Given the description of an element on the screen output the (x, y) to click on. 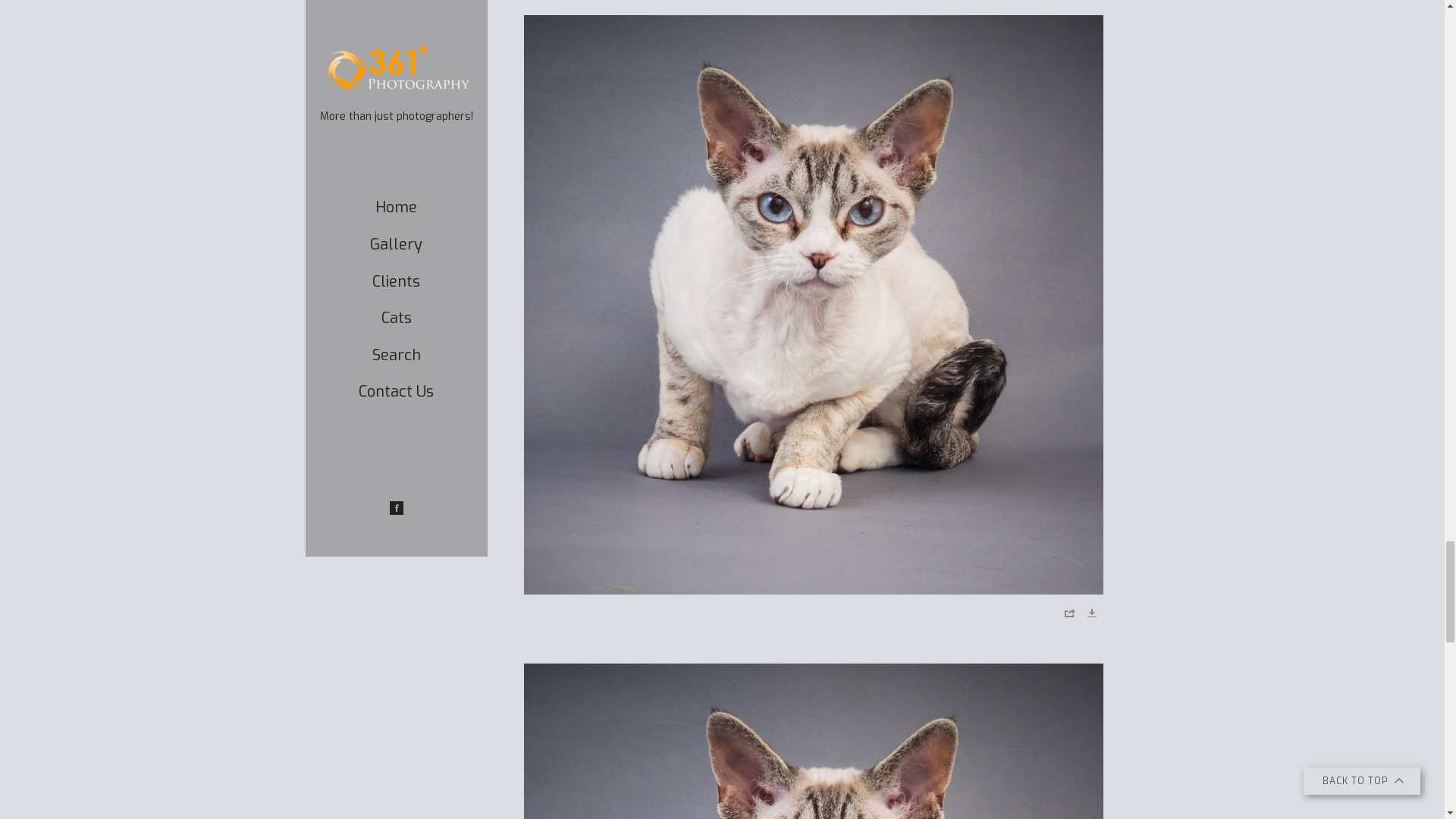
Download All Element type: hover (1084, 134)
Slideshow Element type: hover (1047, 134)
FiFe Dunblane Show August 2014 Element type: text (660, 50)
Share Gallery Element type: hover (1009, 134)
Share Element type: hover (1068, 614)
Download Element type: hover (1090, 614)
Cats Element type: text (552, 50)
